Given the description of an element on the screen output the (x, y) to click on. 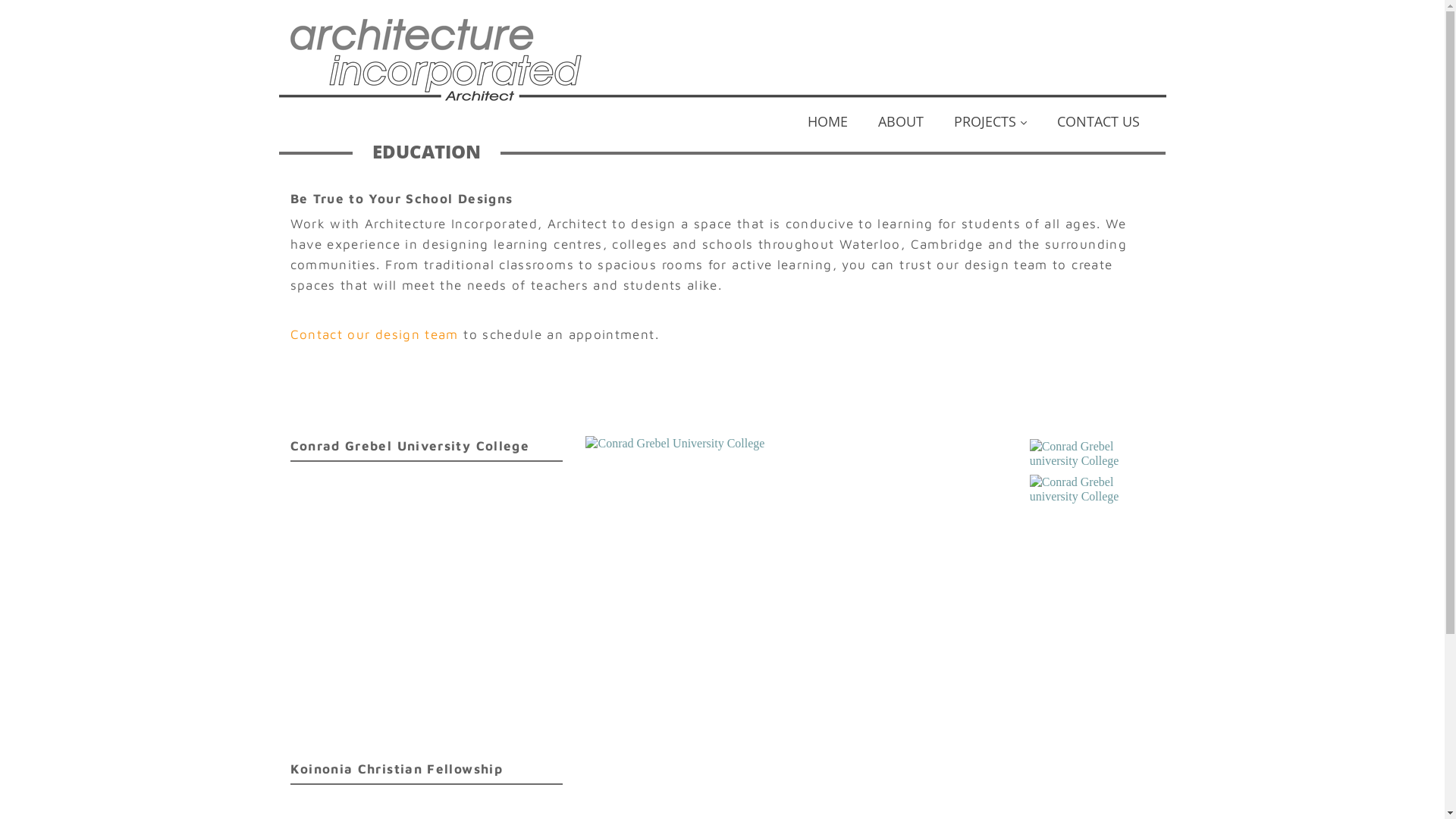
HOME Element type: text (826, 125)
CONTACT US Element type: text (1097, 125)
PROJECTS Element type: text (989, 125)
Contact our design team Element type: text (373, 333)
ABOUT Element type: text (900, 125)
